Given the description of an element on the screen output the (x, y) to click on. 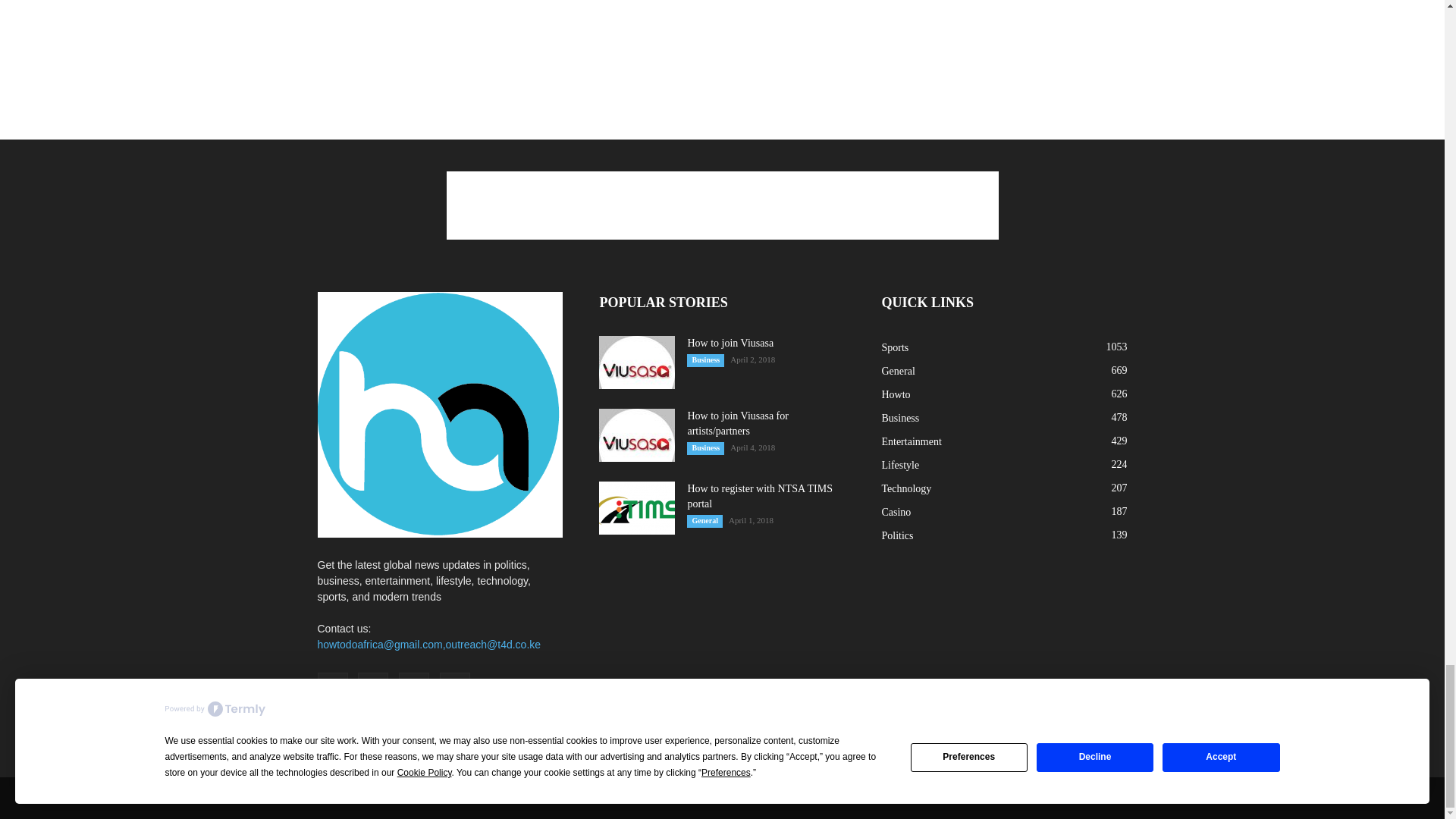
Facebook (332, 687)
Instagram (373, 687)
Twitter (454, 687)
Linkedin (413, 687)
